Given the description of an element on the screen output the (x, y) to click on. 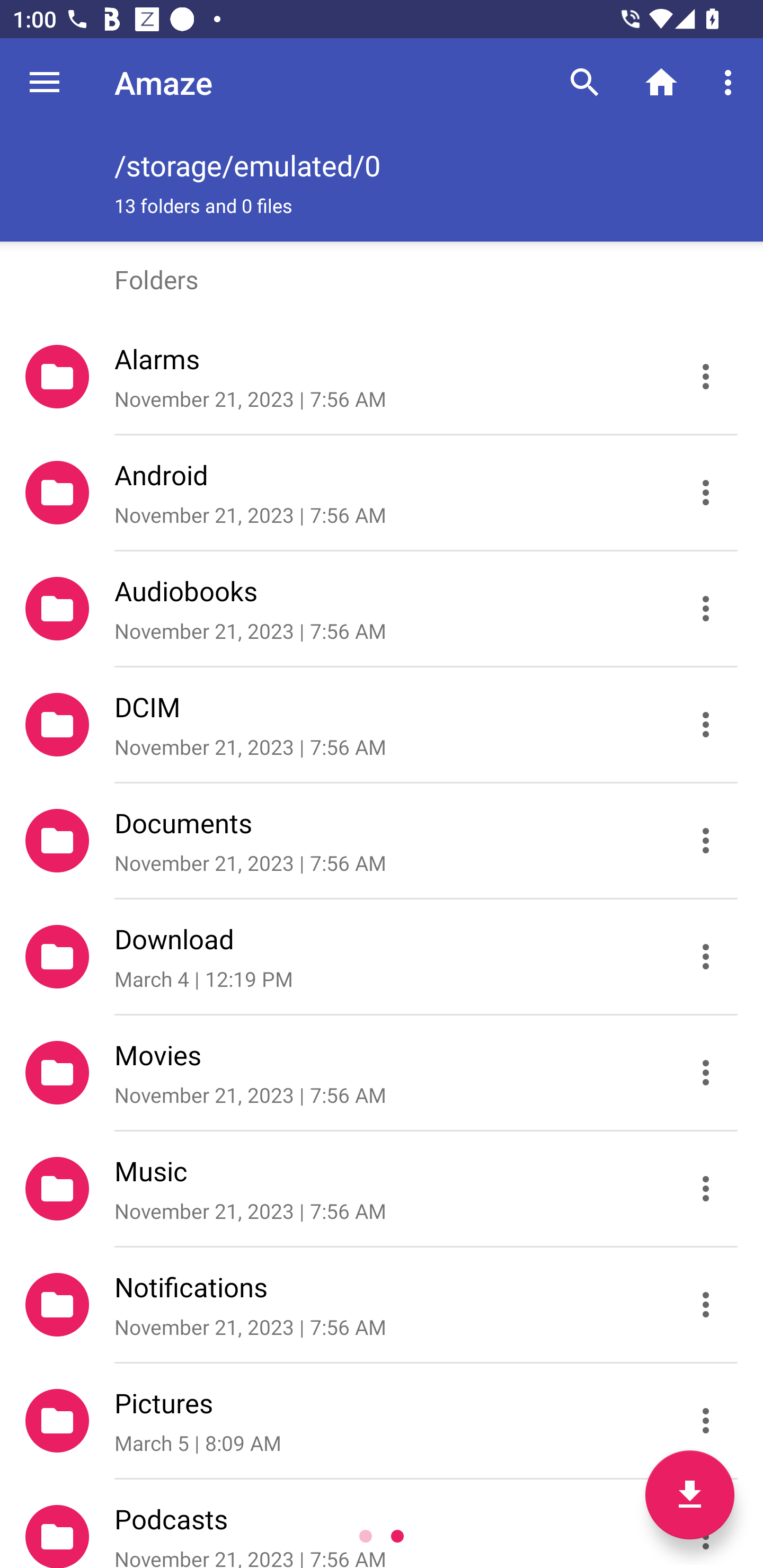
Navigate up (44, 82)
Search (585, 81)
Home (661, 81)
More options (731, 81)
Alarms November 21, 2023 | 7:56 AM (381, 376)
Android November 21, 2023 | 7:56 AM (381, 492)
Audiobooks November 21, 2023 | 7:56 AM (381, 608)
DCIM November 21, 2023 | 7:56 AM (381, 724)
Documents November 21, 2023 | 7:56 AM (381, 841)
Download March 4 | 12:19 PM (381, 957)
Movies November 21, 2023 | 7:56 AM (381, 1073)
Music November 21, 2023 | 7:56 AM (381, 1189)
Notifications November 21, 2023 | 7:56 AM (381, 1305)
Pictures March 5 | 8:09 AM (381, 1421)
Podcasts November 21, 2023 | 7:56 AM (381, 1524)
